Given the description of an element on the screen output the (x, y) to click on. 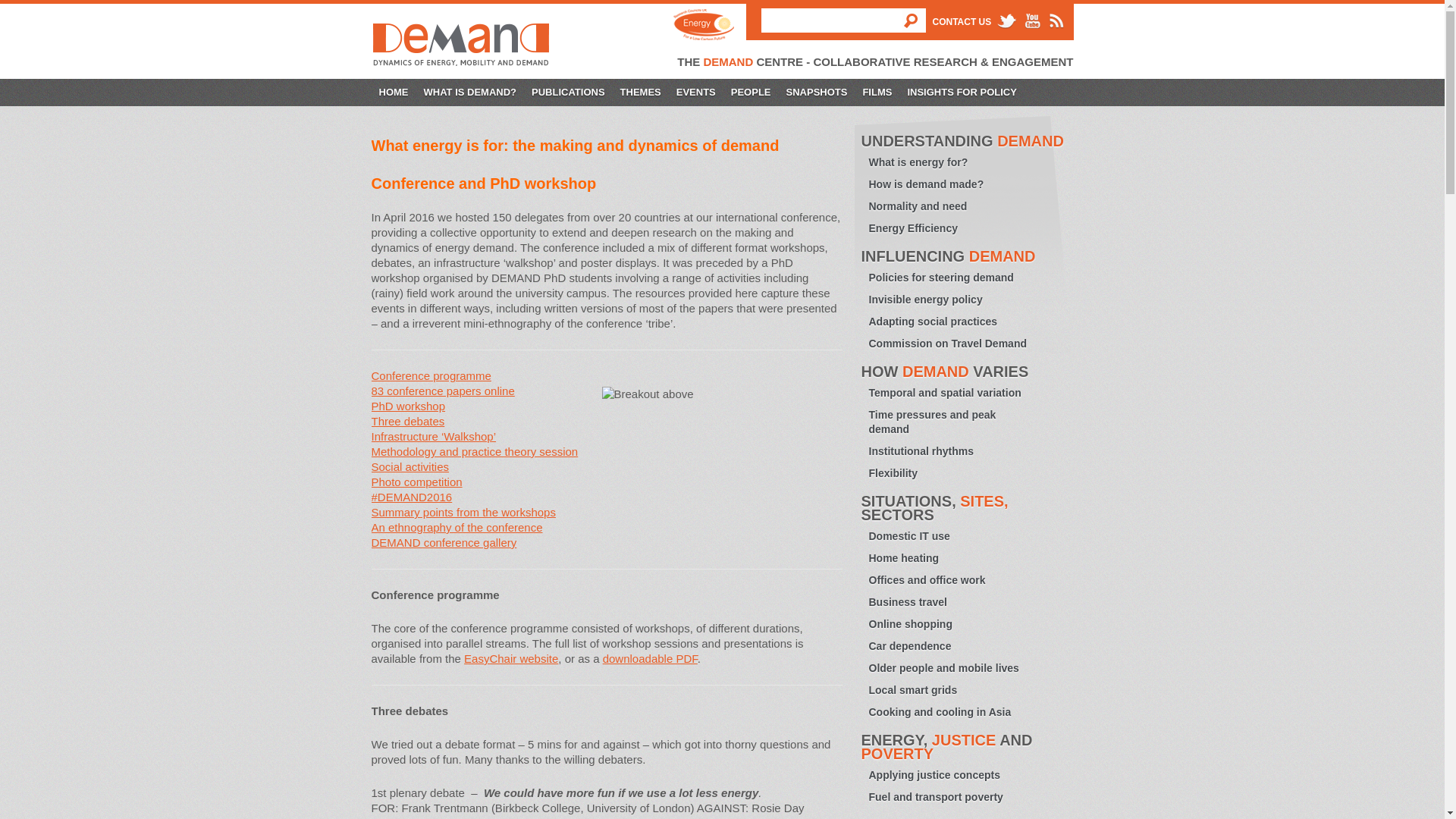
PEOPLE (750, 92)
Conference programme (431, 375)
Methodology and practice theory session (474, 451)
PhD workshop (408, 405)
FILMS (876, 92)
Photo competition (417, 481)
Social activities (410, 466)
Contact Page (962, 21)
INSIGHTS FOR POLICY (961, 92)
Three debates (408, 420)
